Given the description of an element on the screen output the (x, y) to click on. 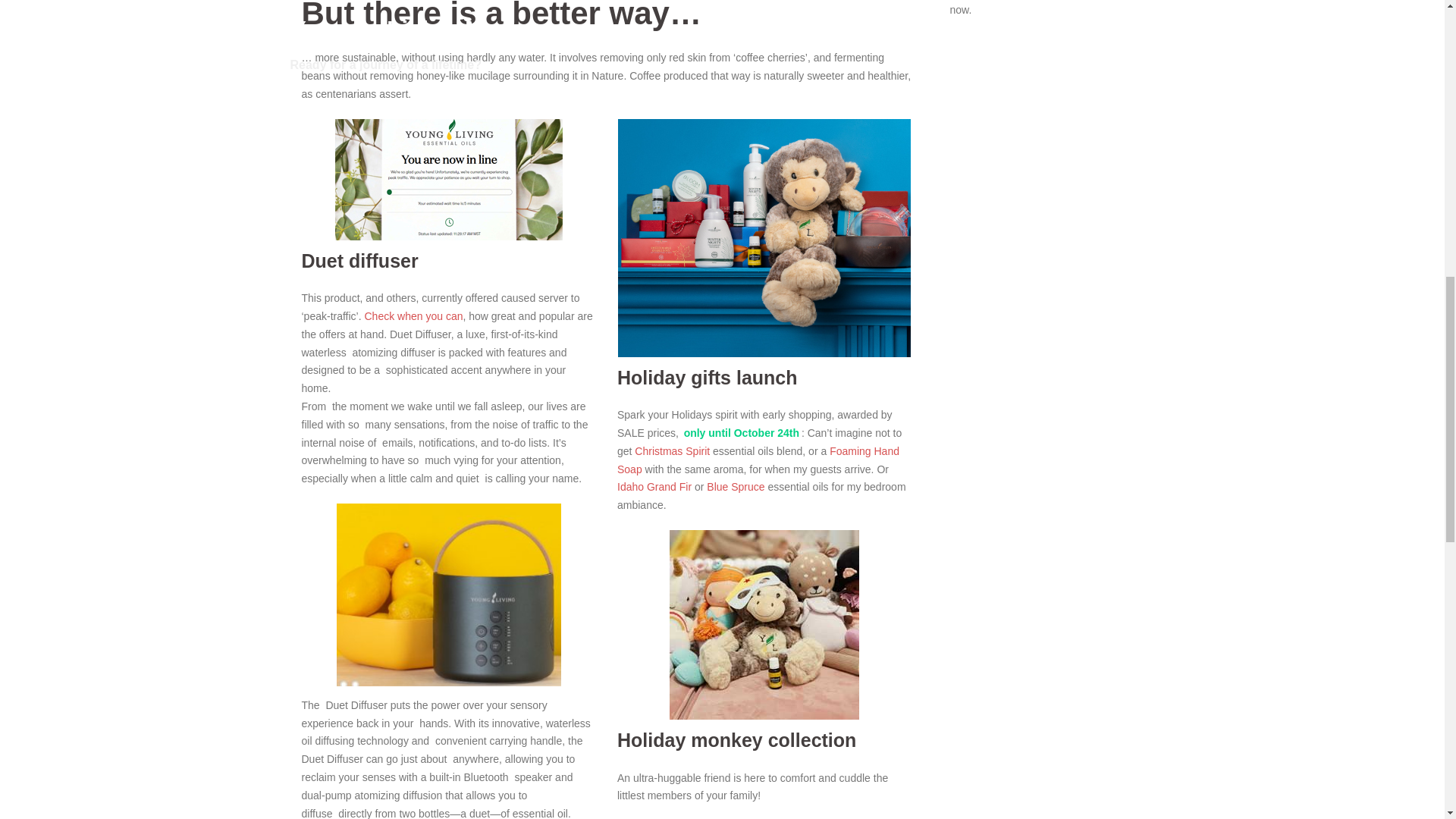
Christmas Spirit (672, 451)
Blue Spruce (735, 486)
Check when you can (413, 316)
Foaming Hand Soap (758, 460)
Idaho Grand Fir (654, 486)
